Given the description of an element on the screen output the (x, y) to click on. 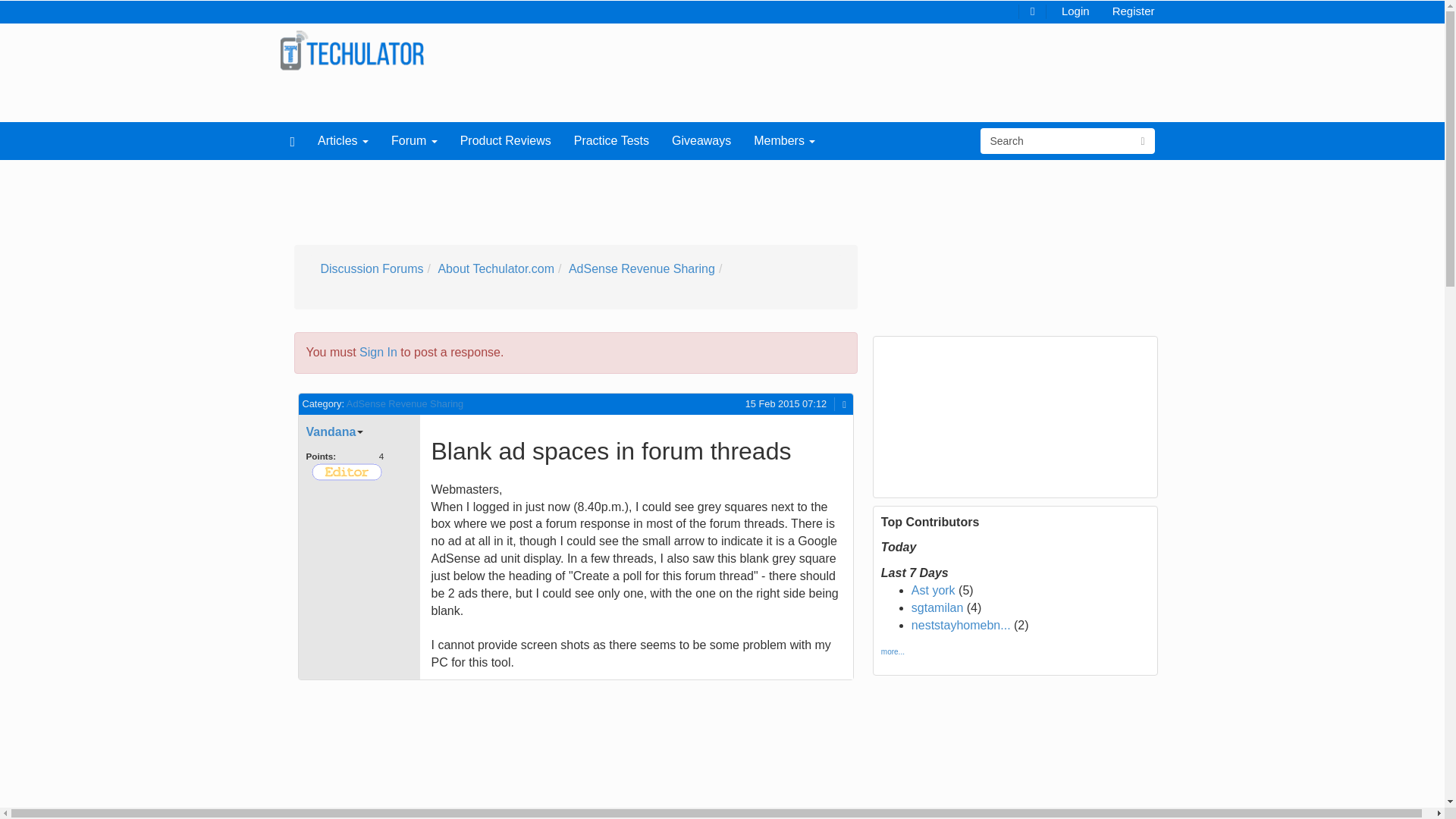
Advertisement (642, 197)
Forum (414, 140)
Software and Gadget reviews (352, 50)
Advertisement (428, 753)
Register (1133, 9)
Search (1055, 140)
Login (1074, 9)
Articles (342, 140)
